Given the description of an element on the screen output the (x, y) to click on. 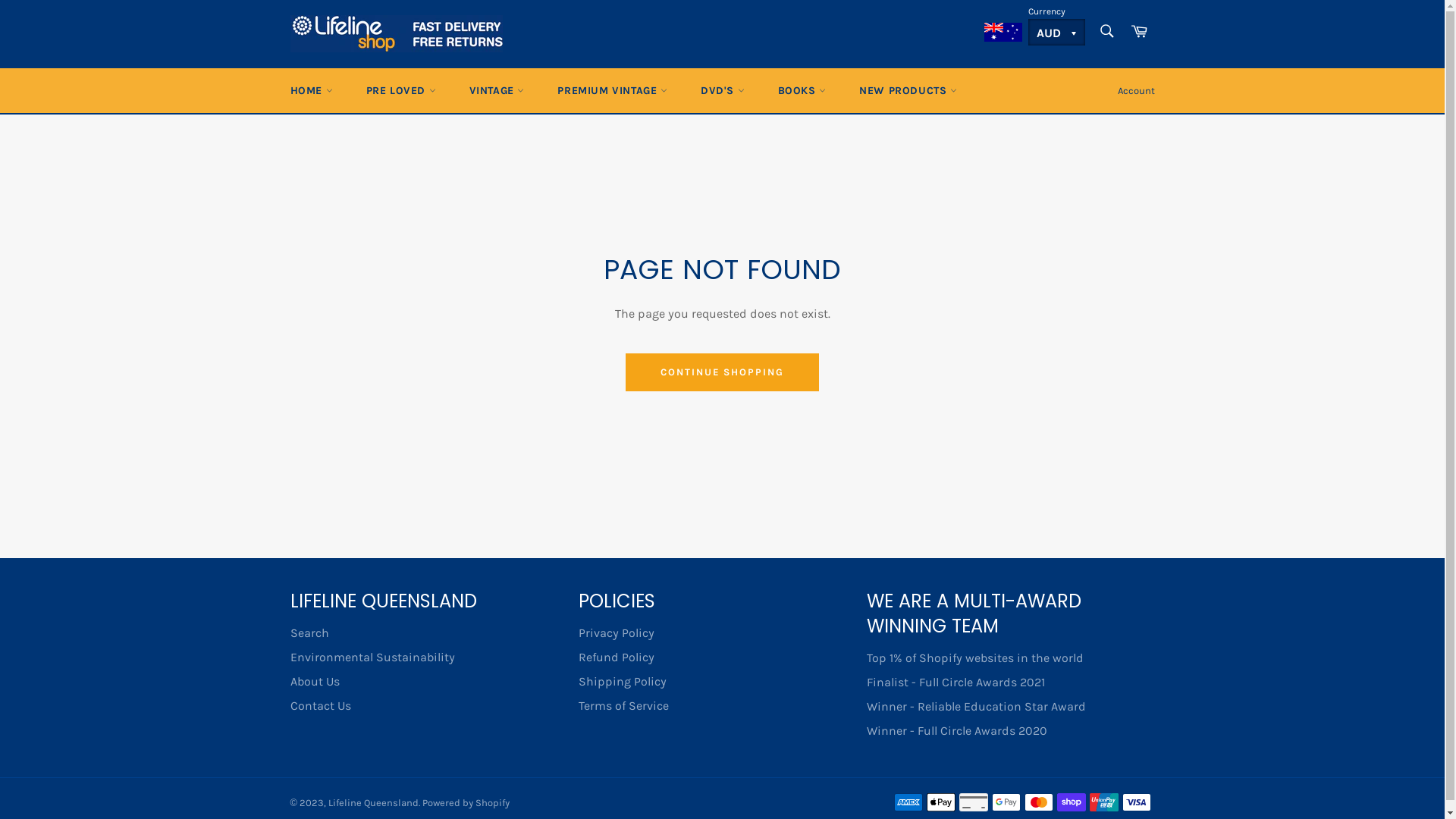
CONTINUE SHOPPING Element type: text (722, 372)
Terms of Service Element type: text (622, 705)
HOME Element type: text (310, 90)
AUD Element type: text (1056, 31)
VINTAGE Element type: text (496, 90)
NEW PRODUCTS Element type: text (908, 90)
Shipping Policy Element type: text (621, 681)
Cart Element type: text (1138, 32)
Search Element type: text (1105, 31)
Environmental Sustainability Element type: text (371, 656)
DVD'S Element type: text (722, 90)
Contact Us Element type: text (319, 705)
About Us Element type: text (313, 681)
Privacy Policy Element type: text (615, 632)
Lifeline Queensland Element type: text (373, 802)
Refund Policy Element type: text (615, 656)
Search Element type: text (308, 632)
Powered by Shopify Element type: text (465, 802)
PRE LOVED Element type: text (400, 90)
BOOKS Element type: text (801, 90)
PREMIUM VINTAGE Element type: text (612, 90)
Account Element type: text (1136, 90)
